Given the description of an element on the screen output the (x, y) to click on. 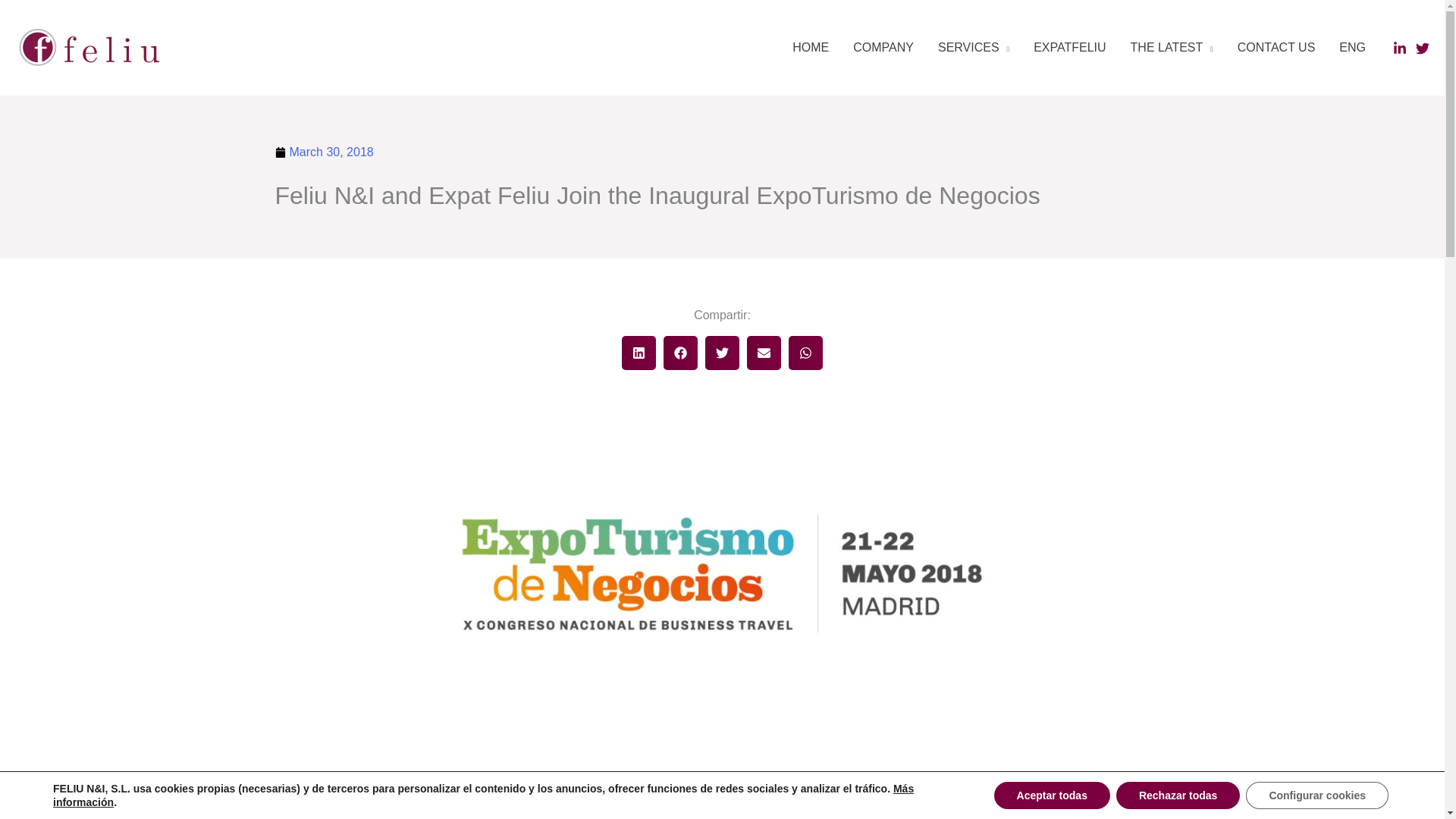
ENG (1351, 47)
SERVICES (974, 47)
HOME (810, 47)
THE LATEST (1171, 47)
COMPANY (883, 47)
CONTACT US (1276, 47)
EXPATFELIU (1070, 47)
ENG (1351, 47)
